Given the description of an element on the screen output the (x, y) to click on. 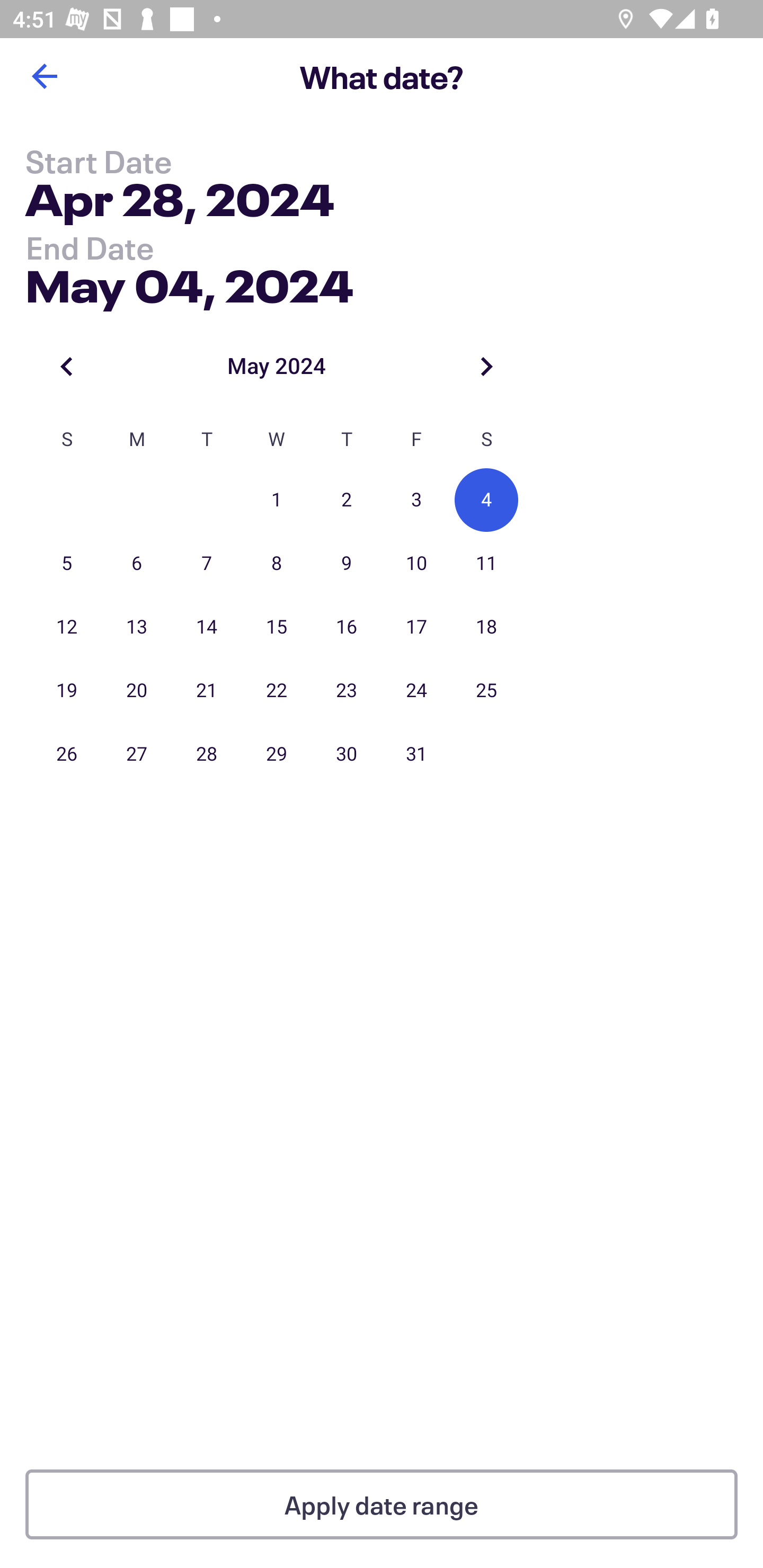
Back button (44, 75)
Apr 28, 2024 (179, 203)
May 04, 2024 (189, 282)
Previous month (66, 365)
Next month (486, 365)
1 01 May 2024 (276, 499)
2 02 May 2024 (346, 499)
3 03 May 2024 (416, 499)
4 04 May 2024 (486, 499)
5 05 May 2024 (66, 563)
6 06 May 2024 (136, 563)
7 07 May 2024 (206, 563)
8 08 May 2024 (276, 563)
9 09 May 2024 (346, 563)
10 10 May 2024 (416, 563)
11 11 May 2024 (486, 563)
12 12 May 2024 (66, 626)
13 13 May 2024 (136, 626)
14 14 May 2024 (206, 626)
15 15 May 2024 (276, 626)
16 16 May 2024 (346, 626)
17 17 May 2024 (416, 626)
18 18 May 2024 (486, 626)
19 19 May 2024 (66, 690)
20 20 May 2024 (136, 690)
21 21 May 2024 (206, 690)
22 22 May 2024 (276, 690)
23 23 May 2024 (346, 690)
24 24 May 2024 (416, 690)
25 25 May 2024 (486, 690)
26 26 May 2024 (66, 753)
27 27 May 2024 (136, 753)
28 28 May 2024 (206, 753)
29 29 May 2024 (276, 753)
30 30 May 2024 (346, 753)
31 31 May 2024 (416, 753)
Apply date range (381, 1504)
